Given the description of an element on the screen output the (x, y) to click on. 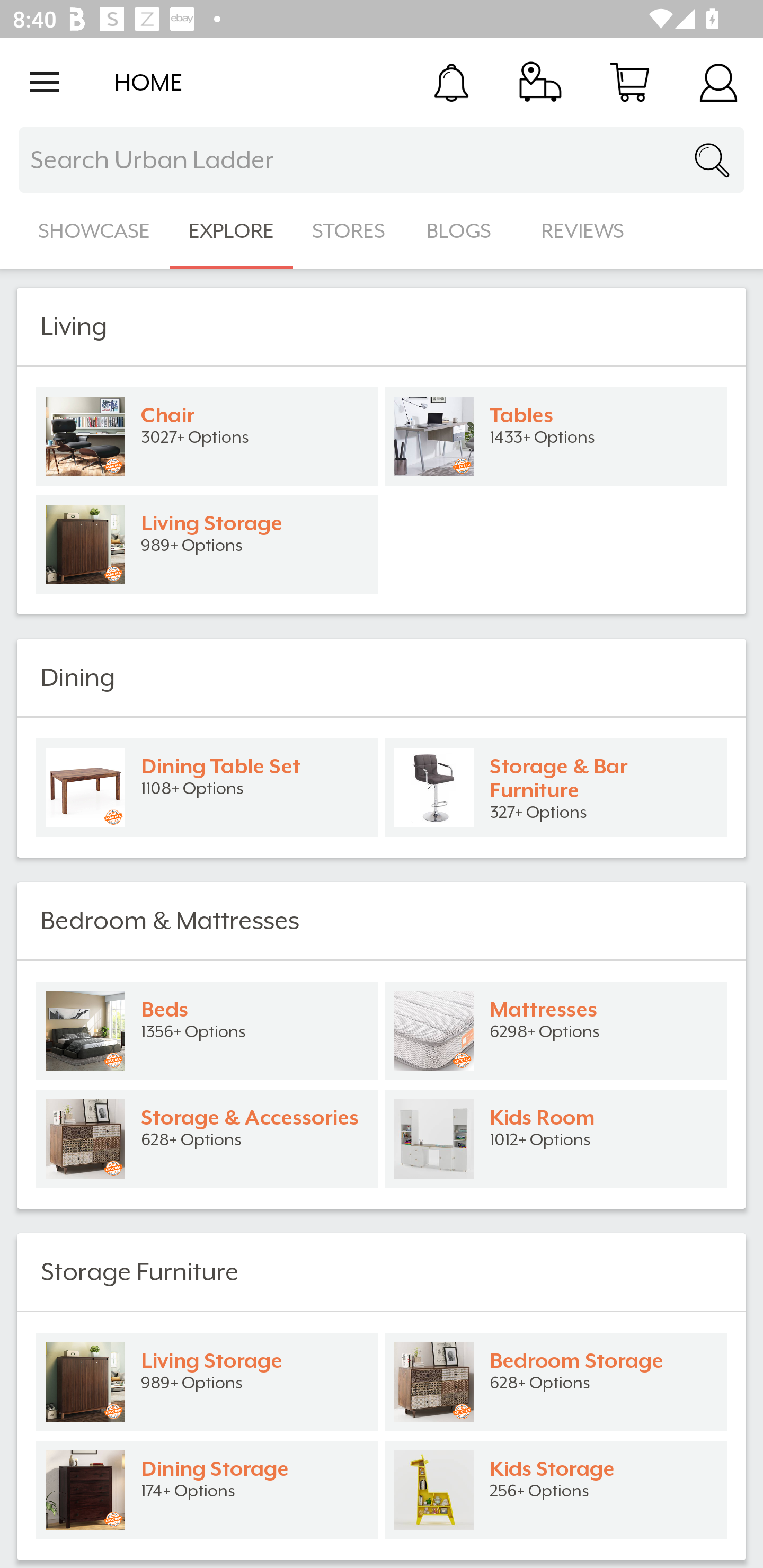
Open navigation drawer (44, 82)
Notification (450, 81)
Track Order (540, 81)
Cart (629, 81)
Account Details (718, 81)
Search Urban Ladder  (381, 159)
SHOWCASE (94, 230)
EXPLORE (230, 230)
STORES (349, 230)
BLOGS (464, 230)
REVIEWS (582, 230)
Chair 3027+ Options (206, 436)
Tables 1433+ Options (555, 436)
Living Storage 989+ Options (206, 544)
Dining Table Set 1108+ Options (206, 787)
Storage & Bar Furniture 327+ Options (555, 787)
Beds 1356+ Options (206, 1030)
Mattresses 6298+ Options (555, 1030)
Storage & Accessories 628+ Options (206, 1139)
Kids Room 1012+ Options (555, 1139)
Living Storage 989+ Options (206, 1382)
Bedroom Storage 628+ Options (555, 1382)
Dining Storage 174+ Options (206, 1490)
Kids Storage 256+ Options (555, 1490)
